Given the description of an element on the screen output the (x, y) to click on. 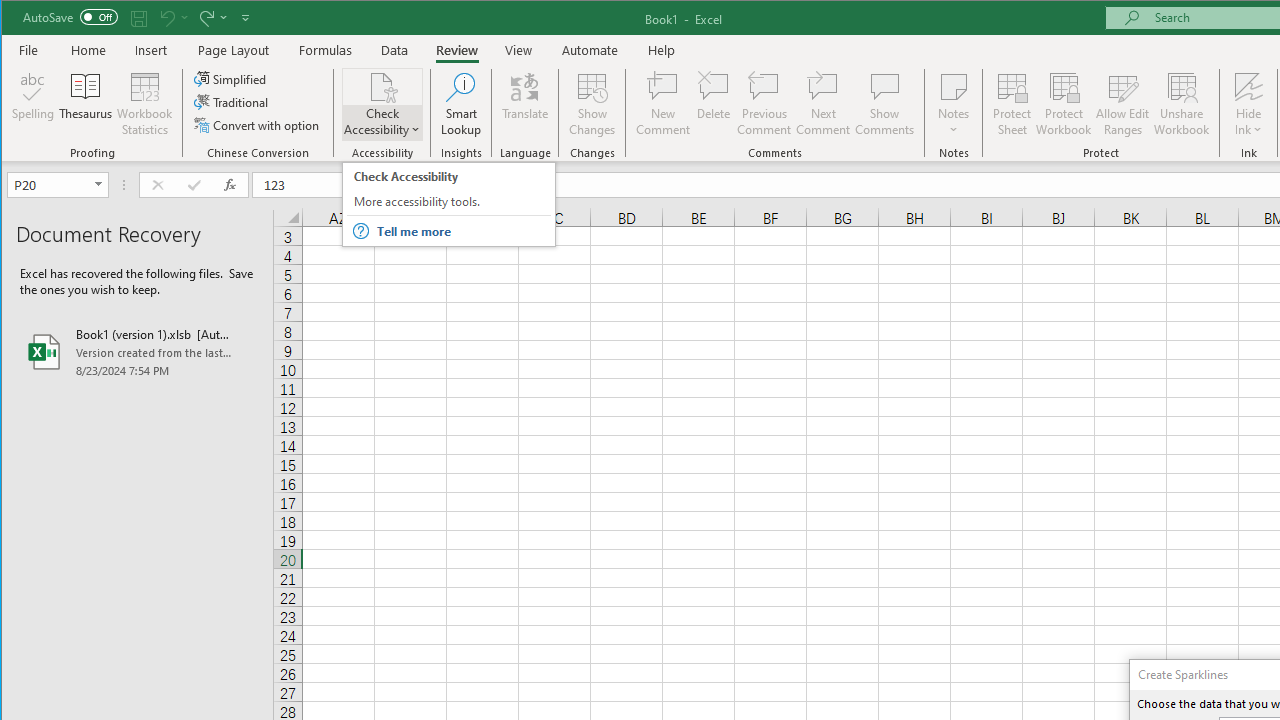
Allow Edit Ranges (1123, 104)
